Given the description of an element on the screen output the (x, y) to click on. 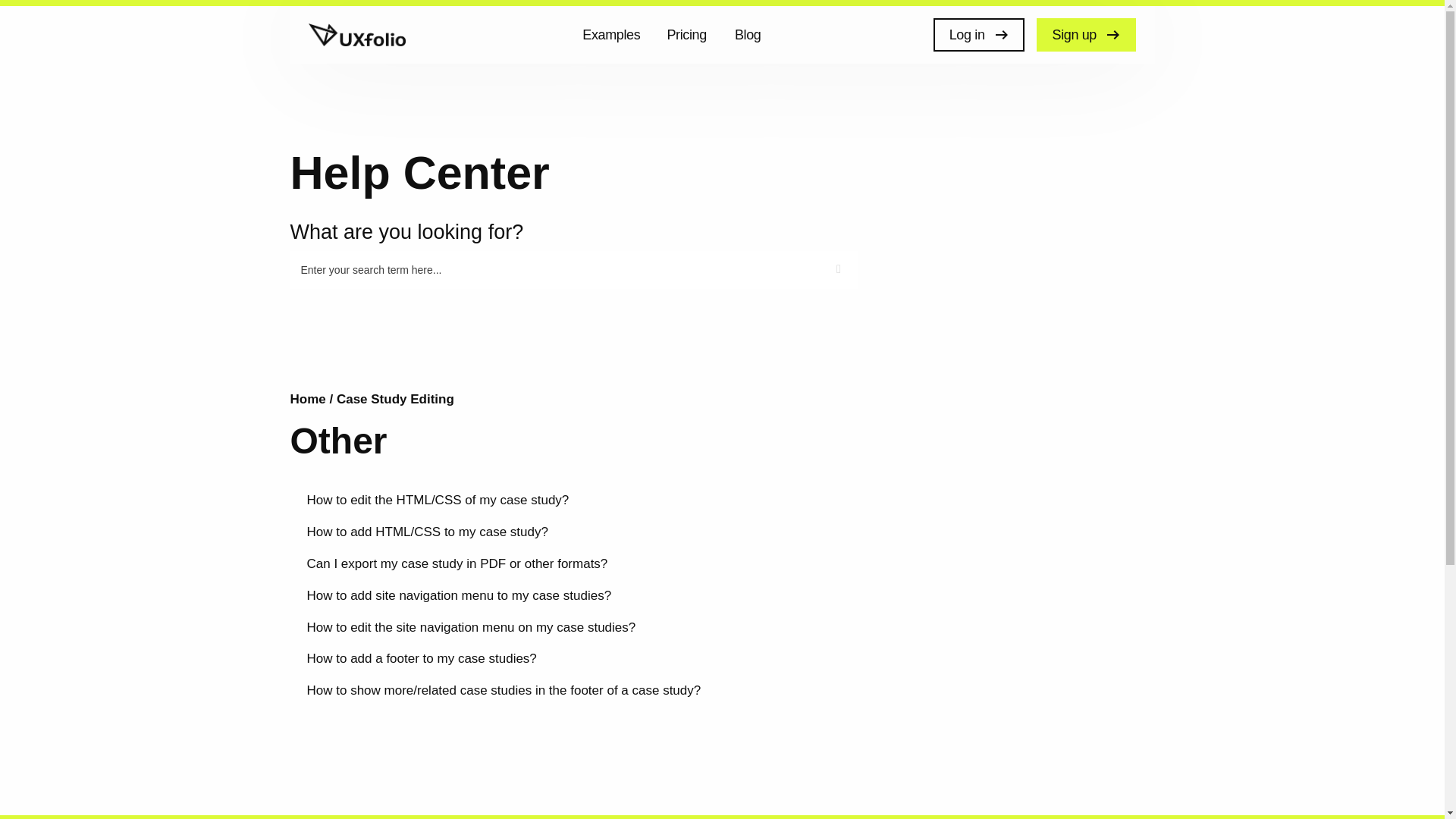
Examples (614, 35)
Log in (979, 34)
How to edit the site navigation menu on my case studies? (469, 626)
Pricing (688, 35)
Case Study Editing (395, 399)
Can I export my case study in PDF or other formats? (456, 563)
How to add site navigation menu to my case studies? (458, 595)
How to add a footer to my case studies? (420, 658)
Home (309, 399)
Blog (750, 35)
